Given the description of an element on the screen output the (x, y) to click on. 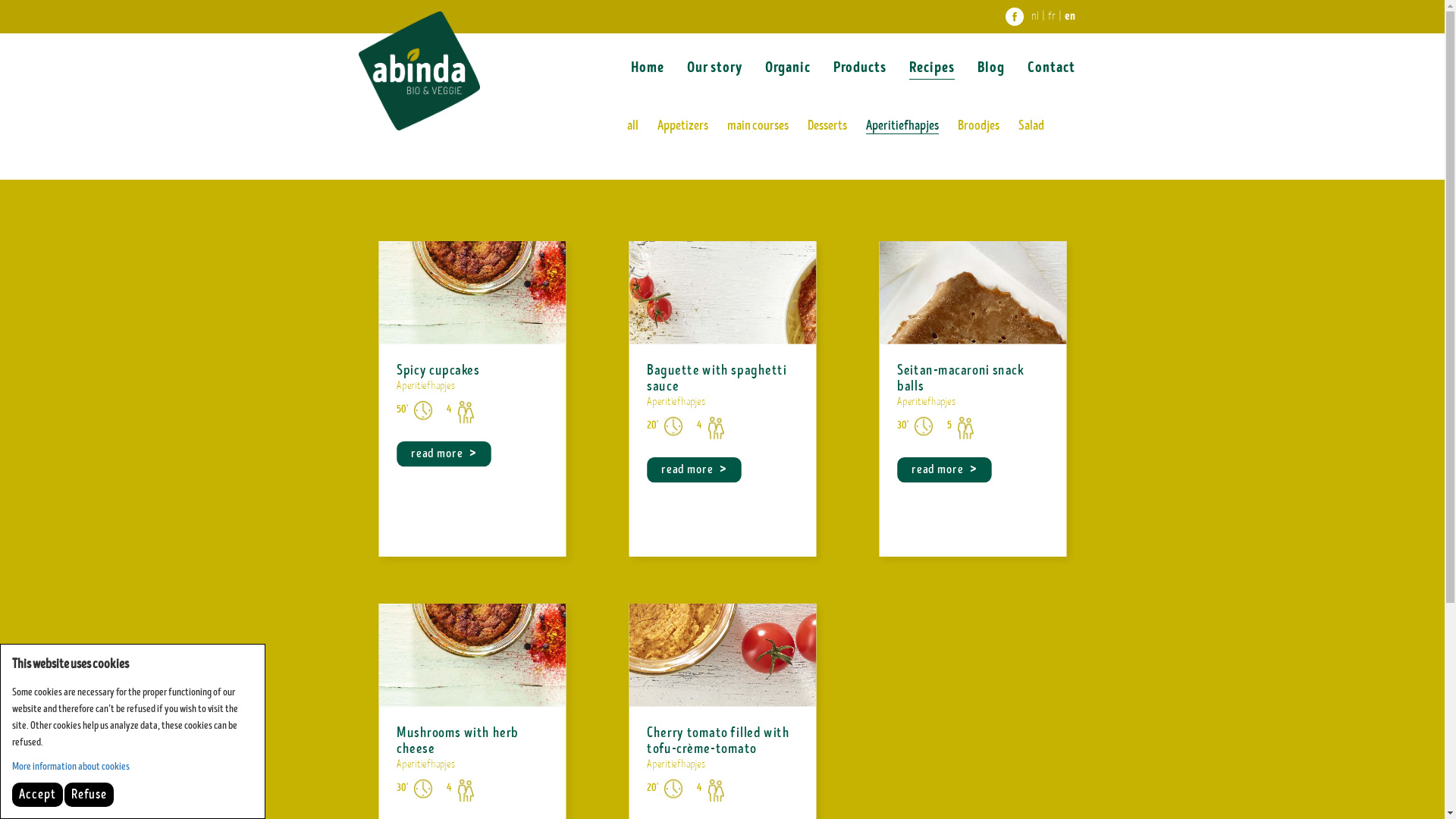
Home Element type: text (647, 67)
Spicy cupcakes
Aperitiefhapjes
50'  
4  
read more   > Element type: text (476, 407)
Organic Element type: text (786, 67)
More information about cookies Element type: text (70, 765)
Accept Element type: text (37, 794)
Products Element type: text (858, 67)
en Element type: text (1069, 15)
Recipes Element type: text (930, 67)
Blog Element type: text (990, 67)
Refuse Element type: text (88, 794)
Abinda - Bio & Veggie Element type: hover (418, 70)
Our story Element type: text (714, 67)
nl Element type: text (1034, 16)
Contact Element type: text (1050, 67)
fr Element type: text (1051, 16)
